Given the description of an element on the screen output the (x, y) to click on. 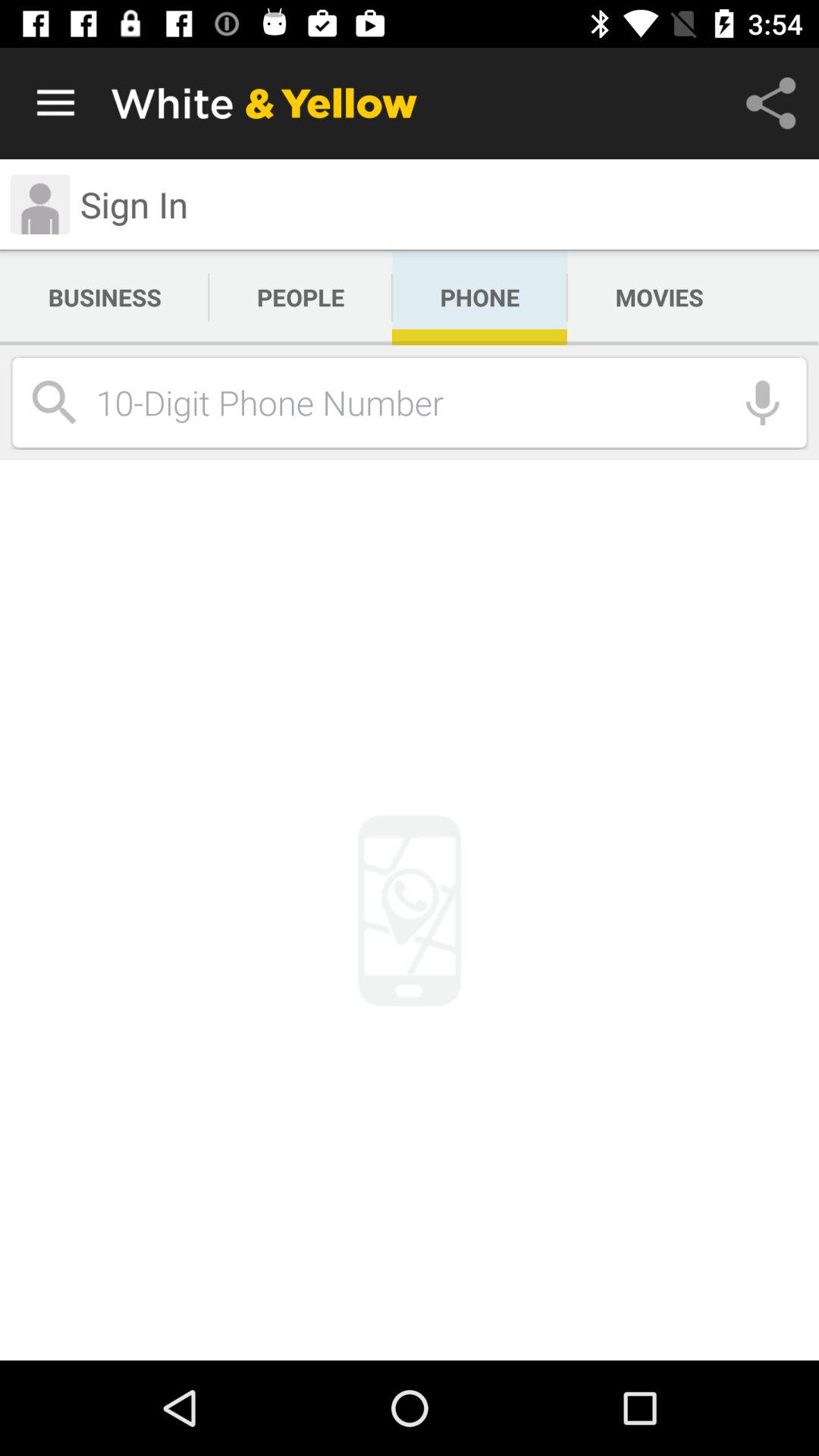
flip to phone icon (479, 297)
